Given the description of an element on the screen output the (x, y) to click on. 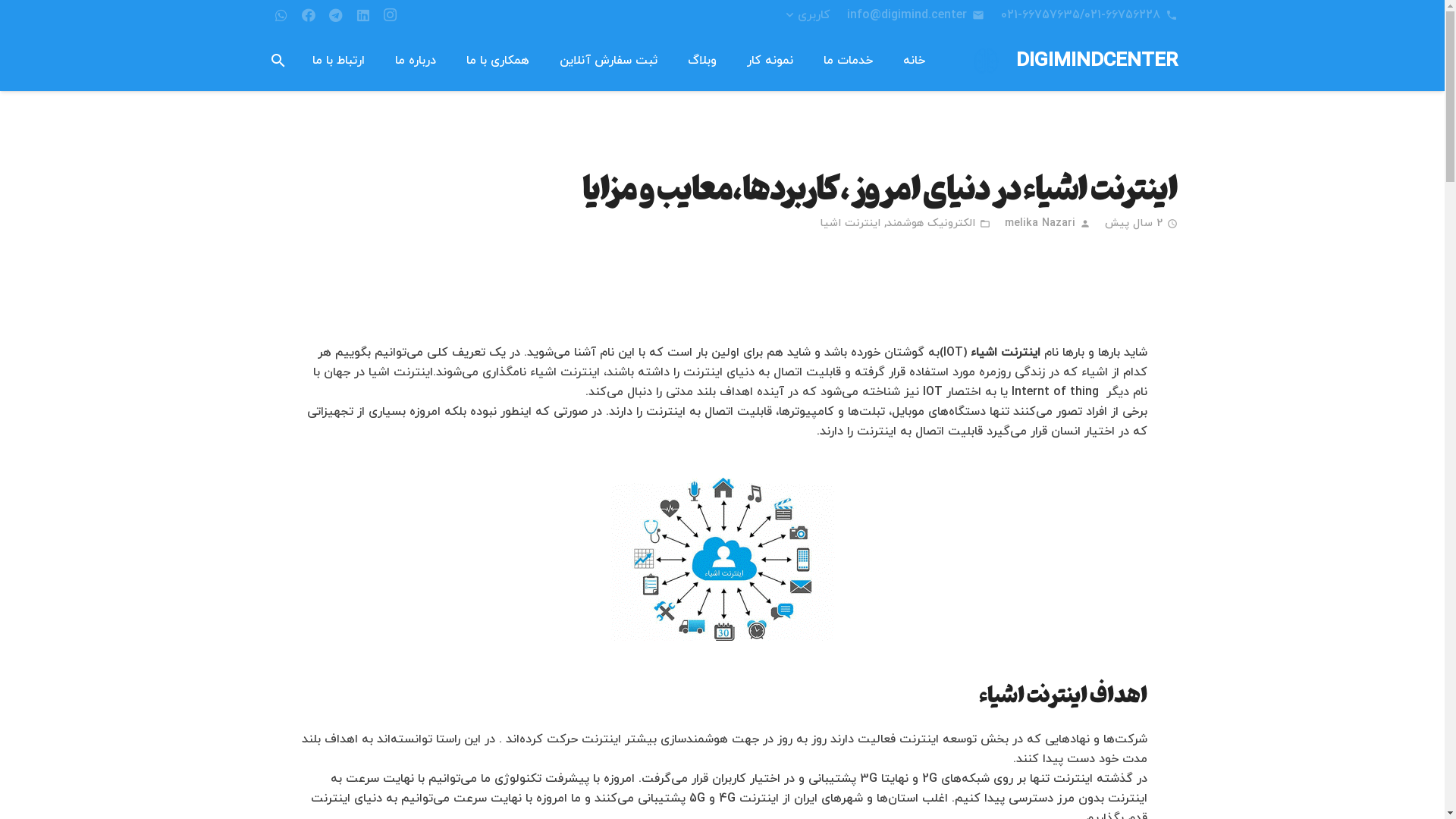
Facebook Element type: hover (307, 14)
search Element type: text (277, 60)
DIGIMINDCENTER Element type: text (1096, 61)
Telegram Element type: hover (334, 14)
Instagram Element type: hover (389, 14)
WhatsApp Element type: hover (280, 14)
emailinfo@digimind.center Element type: text (915, 14)
LinkedIn Element type: hover (362, 14)
melika Nazari Element type: text (1039, 223)
